Given the description of an element on the screen output the (x, y) to click on. 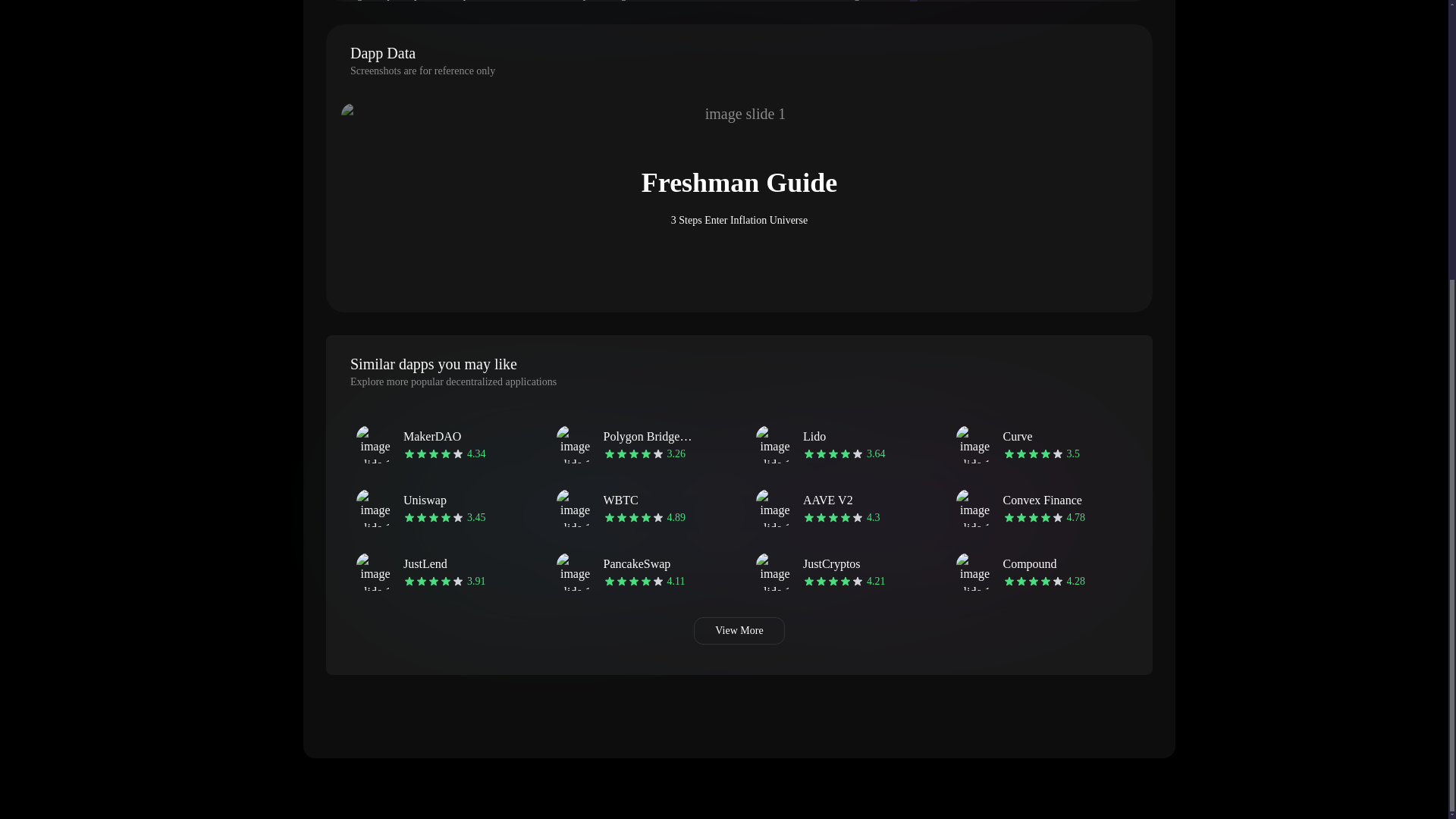
View More (1038, 444)
